Given the description of an element on the screen output the (x, y) to click on. 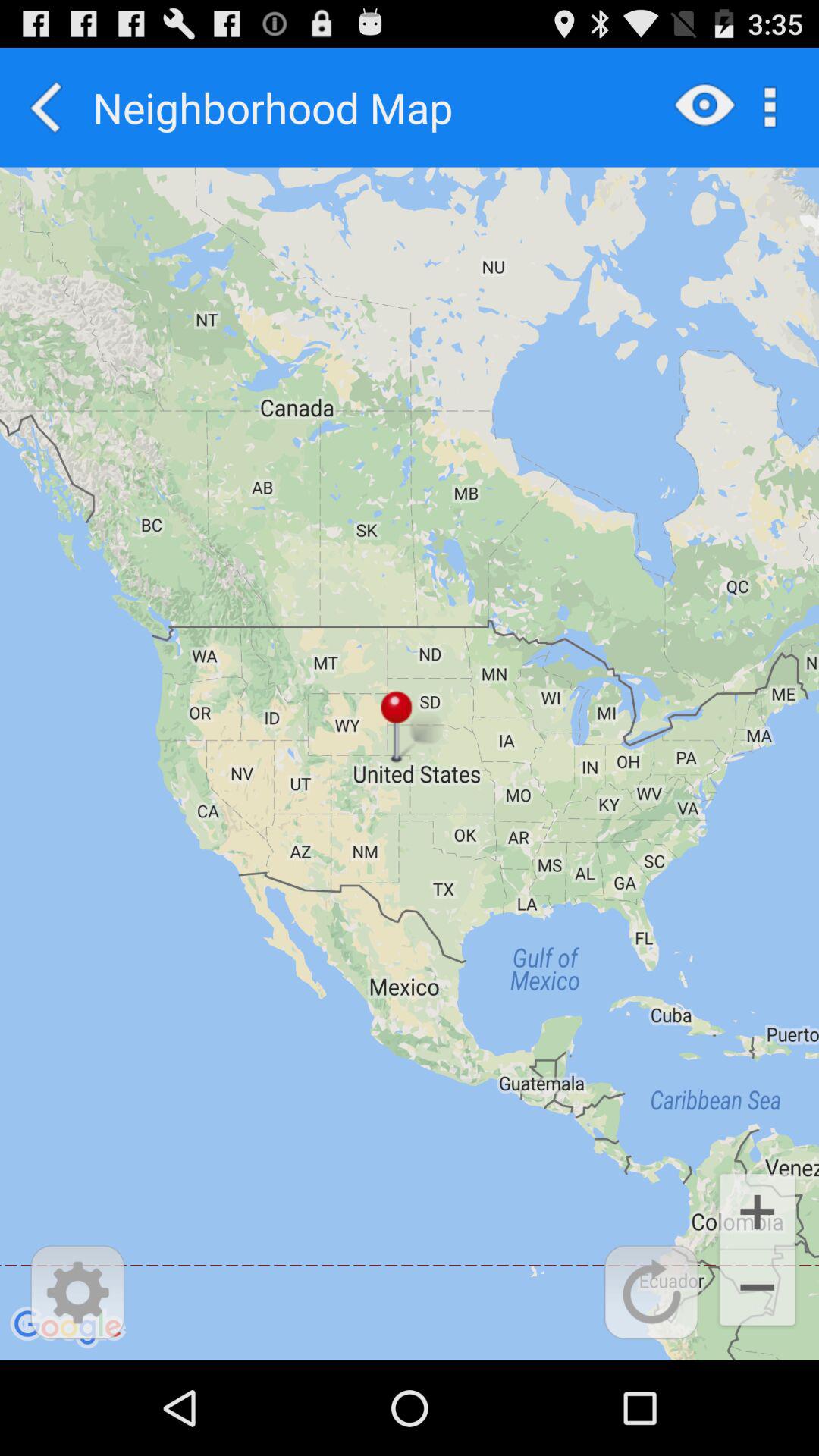
settings icon (77, 1292)
